Given the description of an element on the screen output the (x, y) to click on. 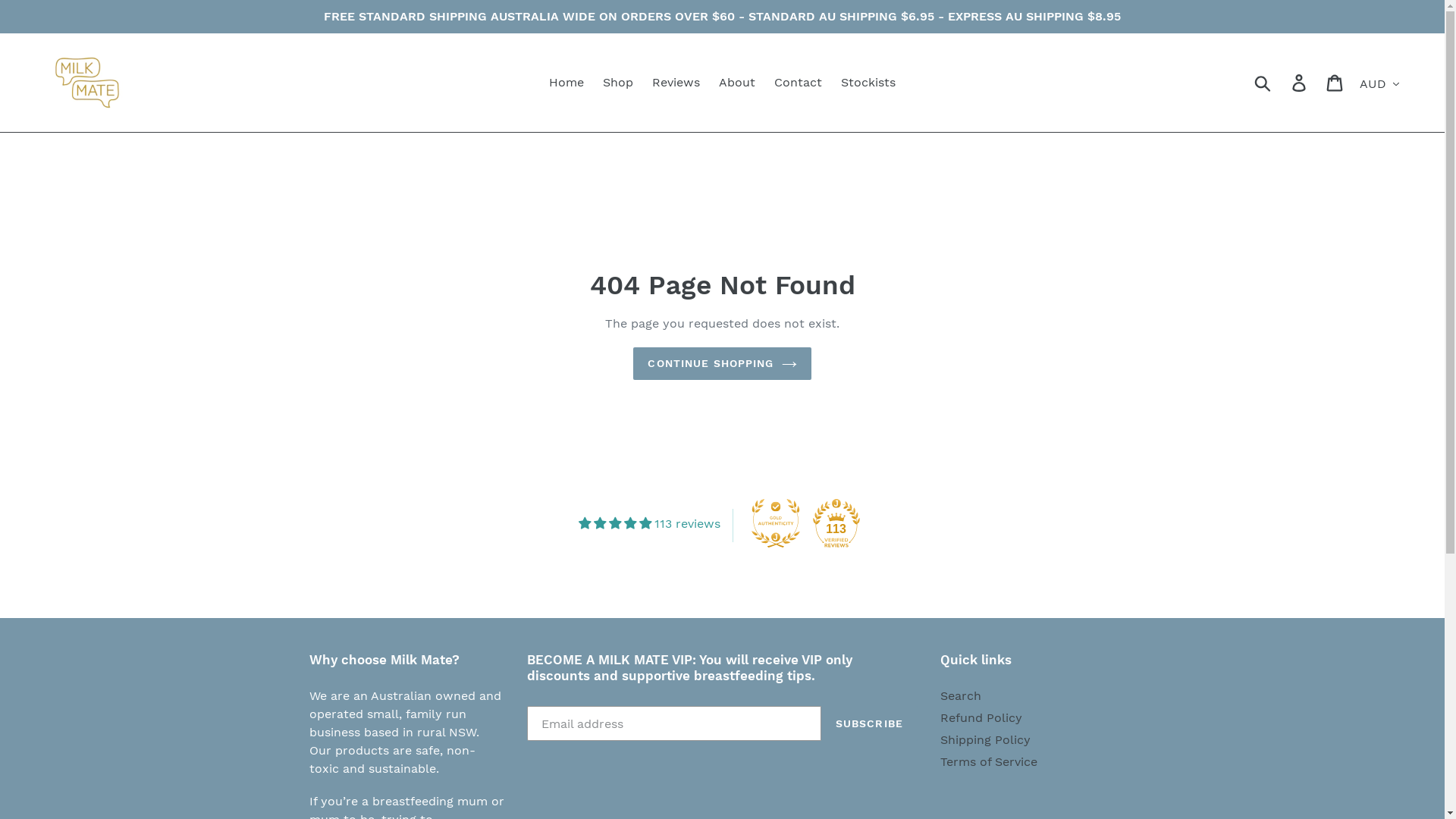
Stockists Element type: text (868, 82)
Search Element type: text (960, 695)
Home Element type: text (566, 82)
Submit Element type: text (1263, 82)
SUBSCRIBE Element type: text (869, 723)
Log in Element type: text (1299, 82)
Cart Element type: text (1335, 82)
113 Element type: text (835, 522)
CONTINUE SHOPPING Element type: text (721, 363)
Shipping Policy Element type: text (985, 739)
Contact Element type: text (797, 82)
Reviews Element type: text (675, 82)
About Element type: text (736, 82)
Terms of Service Element type: text (988, 761)
Shop Element type: text (617, 82)
Refund Policy Element type: text (981, 717)
